Given the description of an element on the screen output the (x, y) to click on. 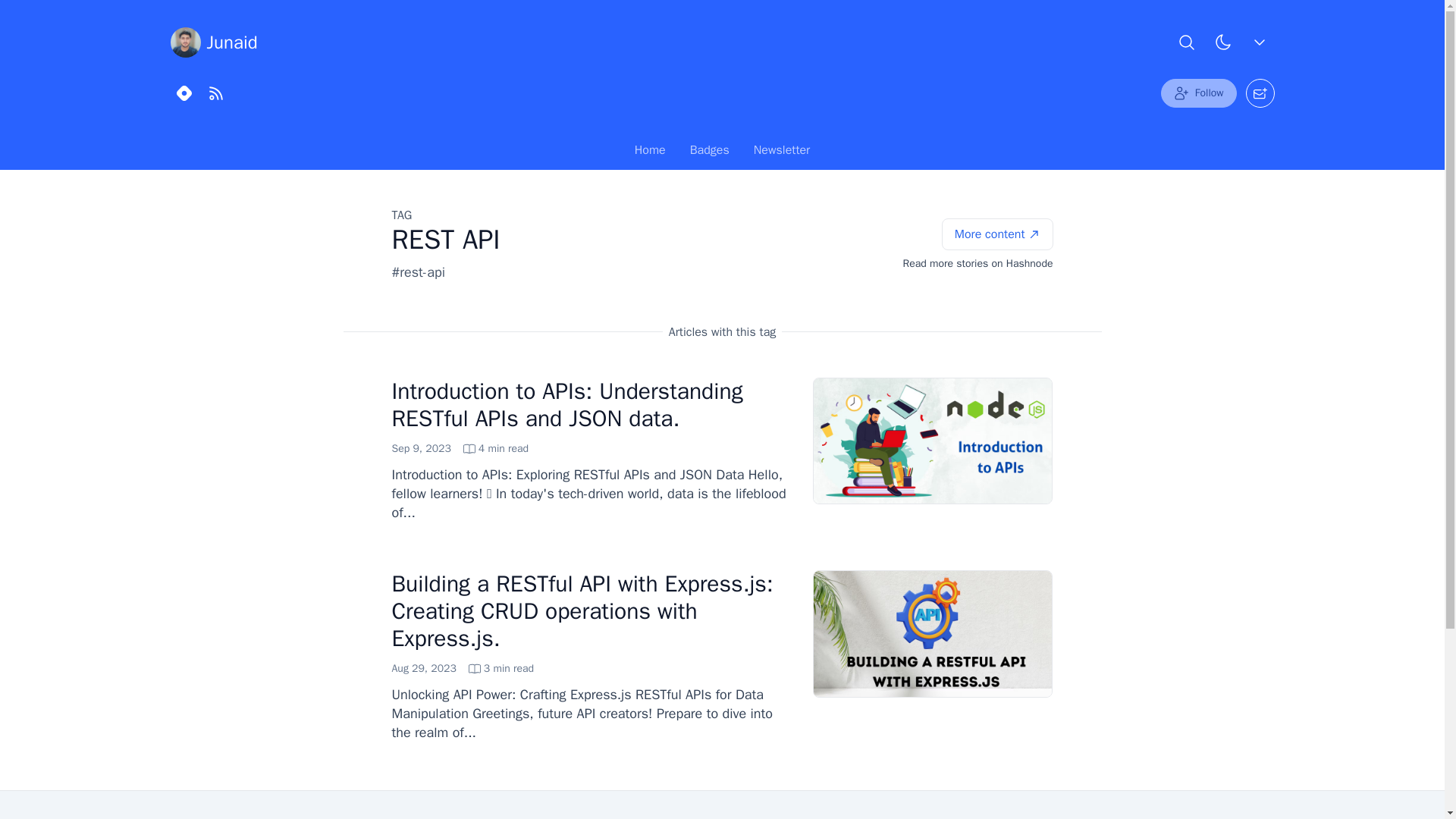
Badges (459, 448)
More content (721, 150)
Newsletter (709, 153)
Home (997, 234)
Follow (462, 668)
Junaid (781, 153)
